Given the description of an element on the screen output the (x, y) to click on. 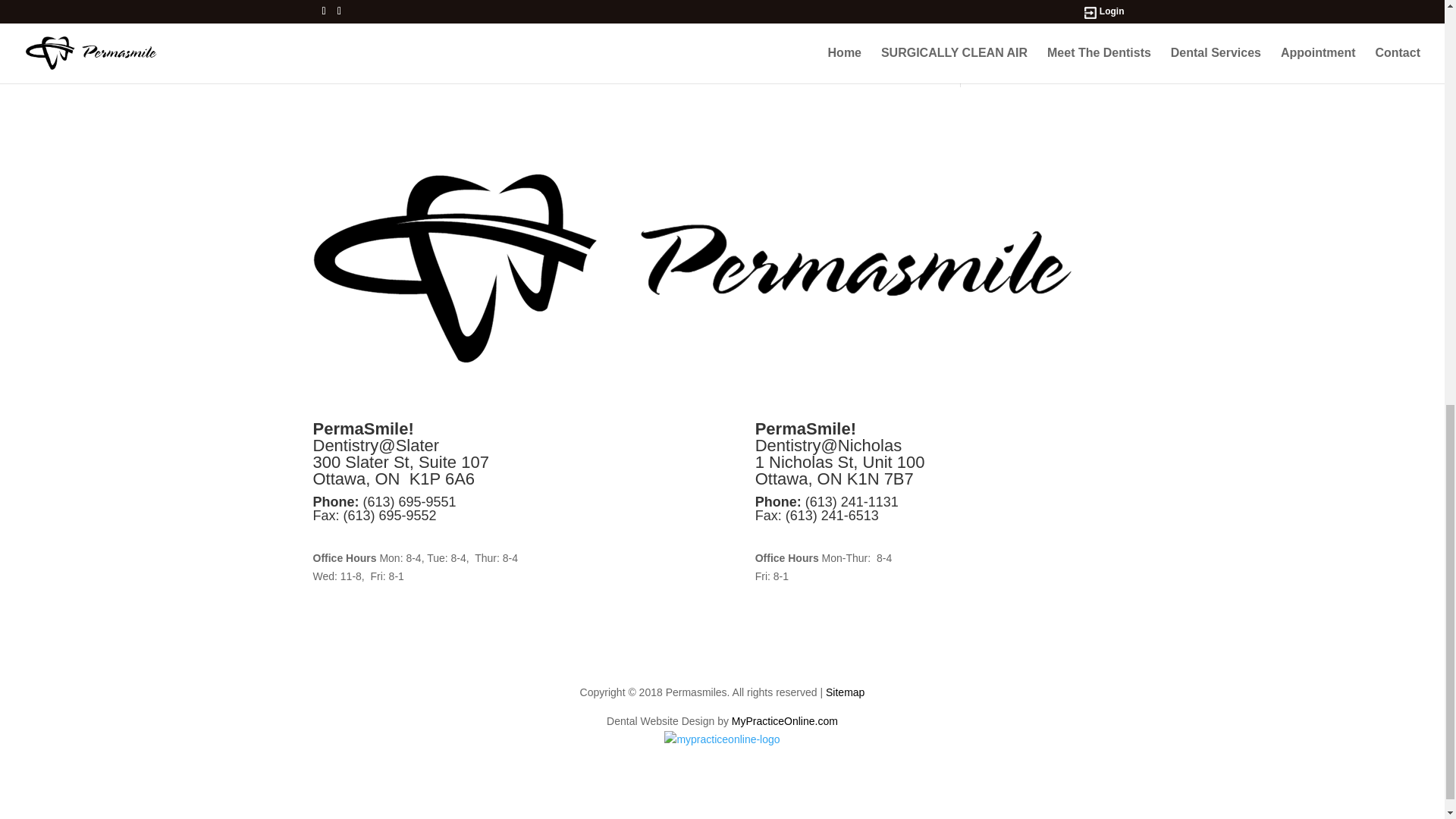
Directions (339, 535)
Sitemap (844, 692)
Directions (782, 535)
MyPracticeOnline.com (785, 720)
